Given the description of an element on the screen output the (x, y) to click on. 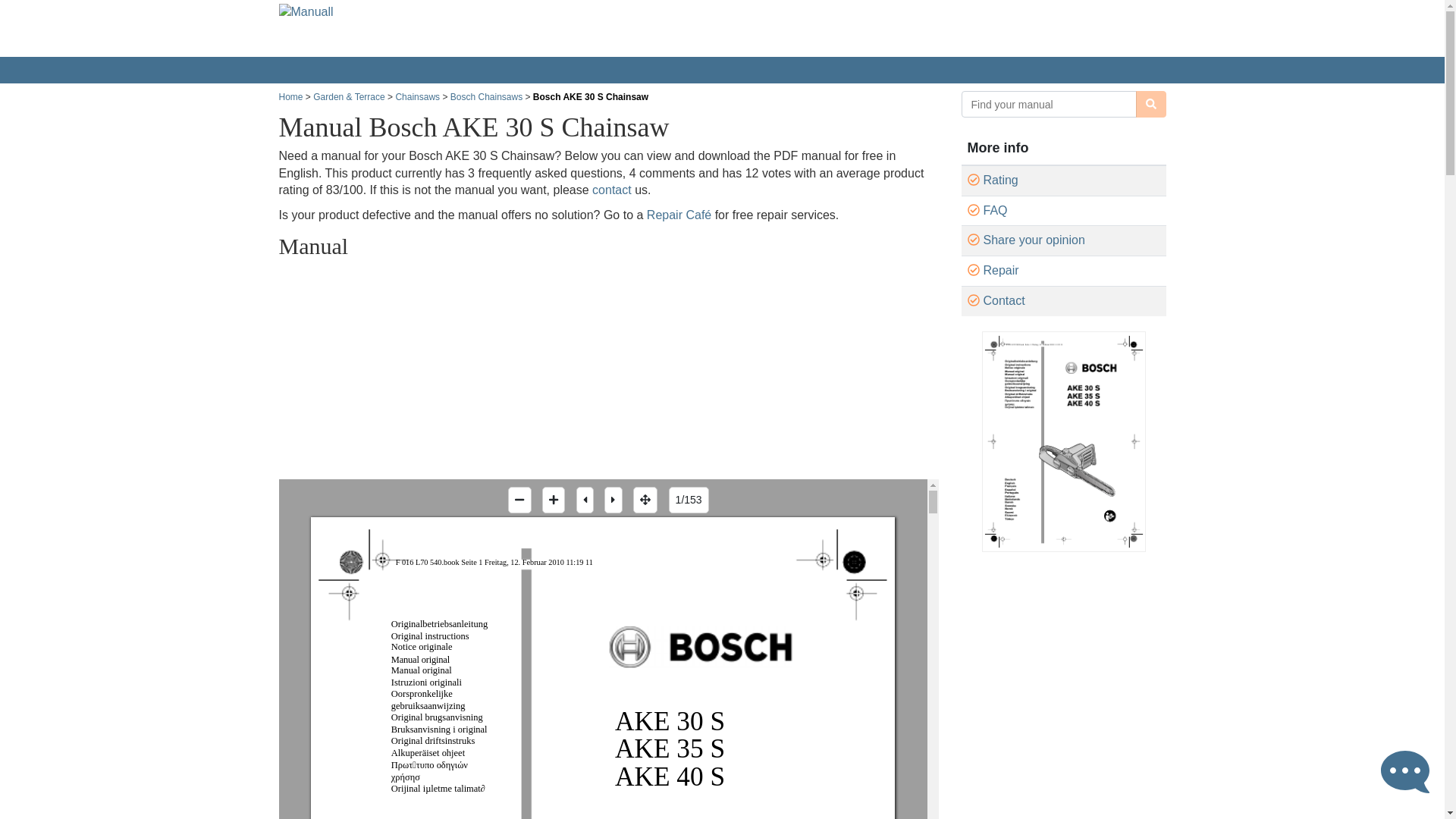
Chainsaws (416, 96)
Home (290, 96)
Home (290, 96)
Manuals for Bosch Chainsaws (485, 96)
Bosch Chainsaws (485, 96)
Manuall Contact (611, 189)
Manuall (357, 28)
Manuals for Chainsaws (416, 96)
contact (611, 189)
